Given the description of an element on the screen output the (x, y) to click on. 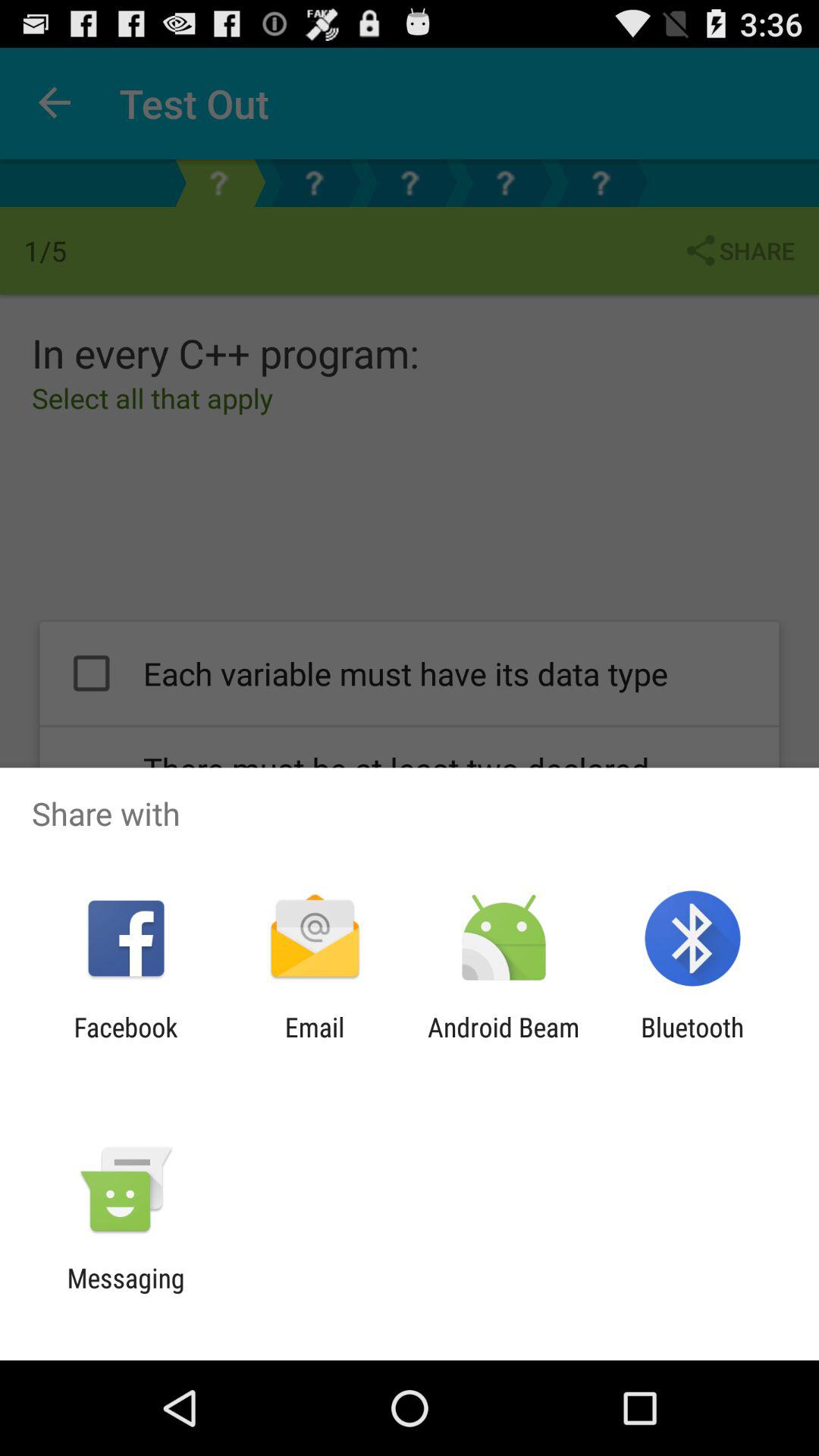
turn off item next to the android beam icon (314, 1042)
